Given the description of an element on the screen output the (x, y) to click on. 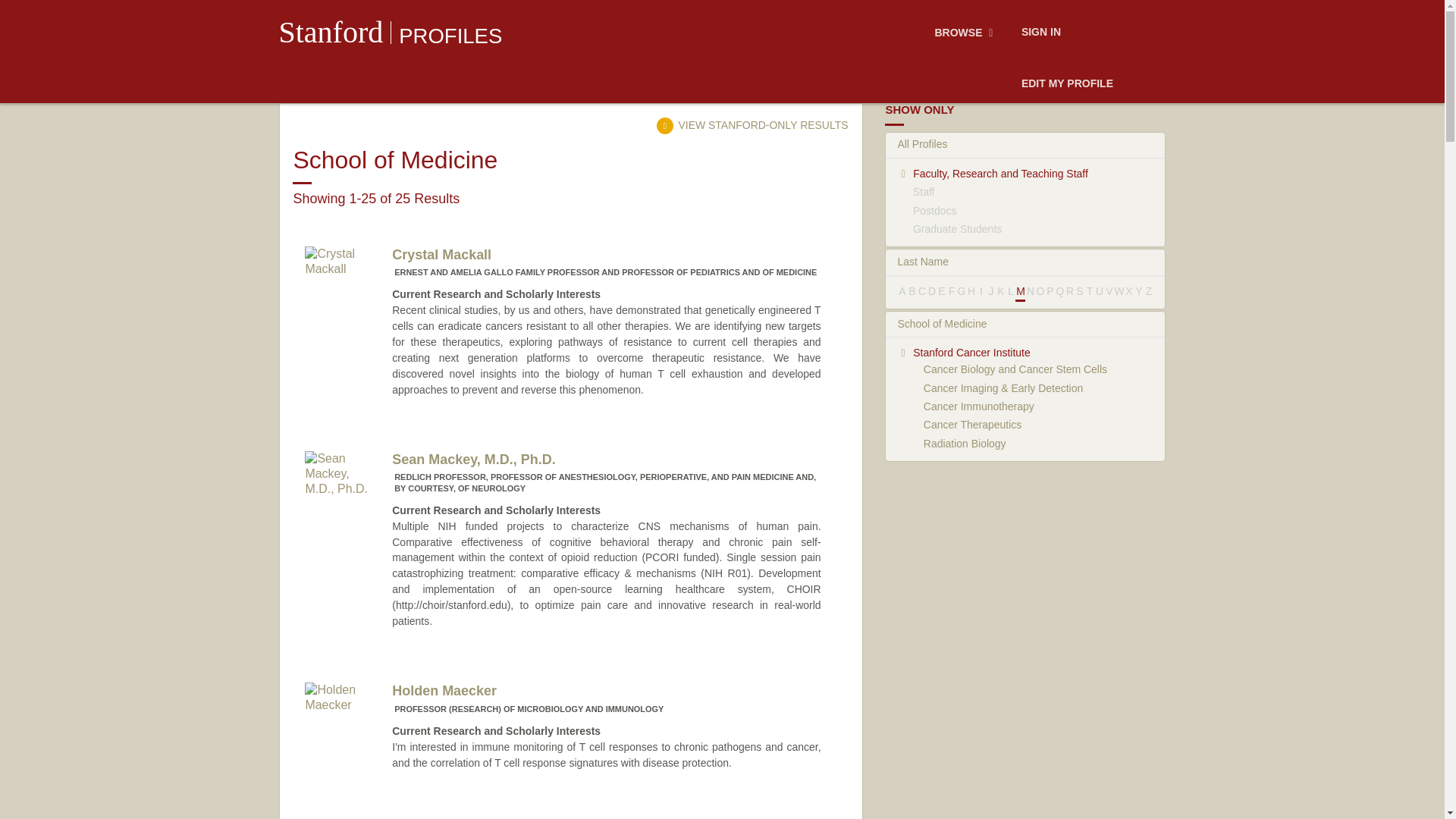
Stanford (331, 32)
EDIT MY PROFILE (1067, 84)
BROWSE (966, 32)
SIGN IN (1040, 32)
PROFILES (450, 35)
VIEW STANFORD-ONLY RESULTS (751, 124)
